Given the description of an element on the screen output the (x, y) to click on. 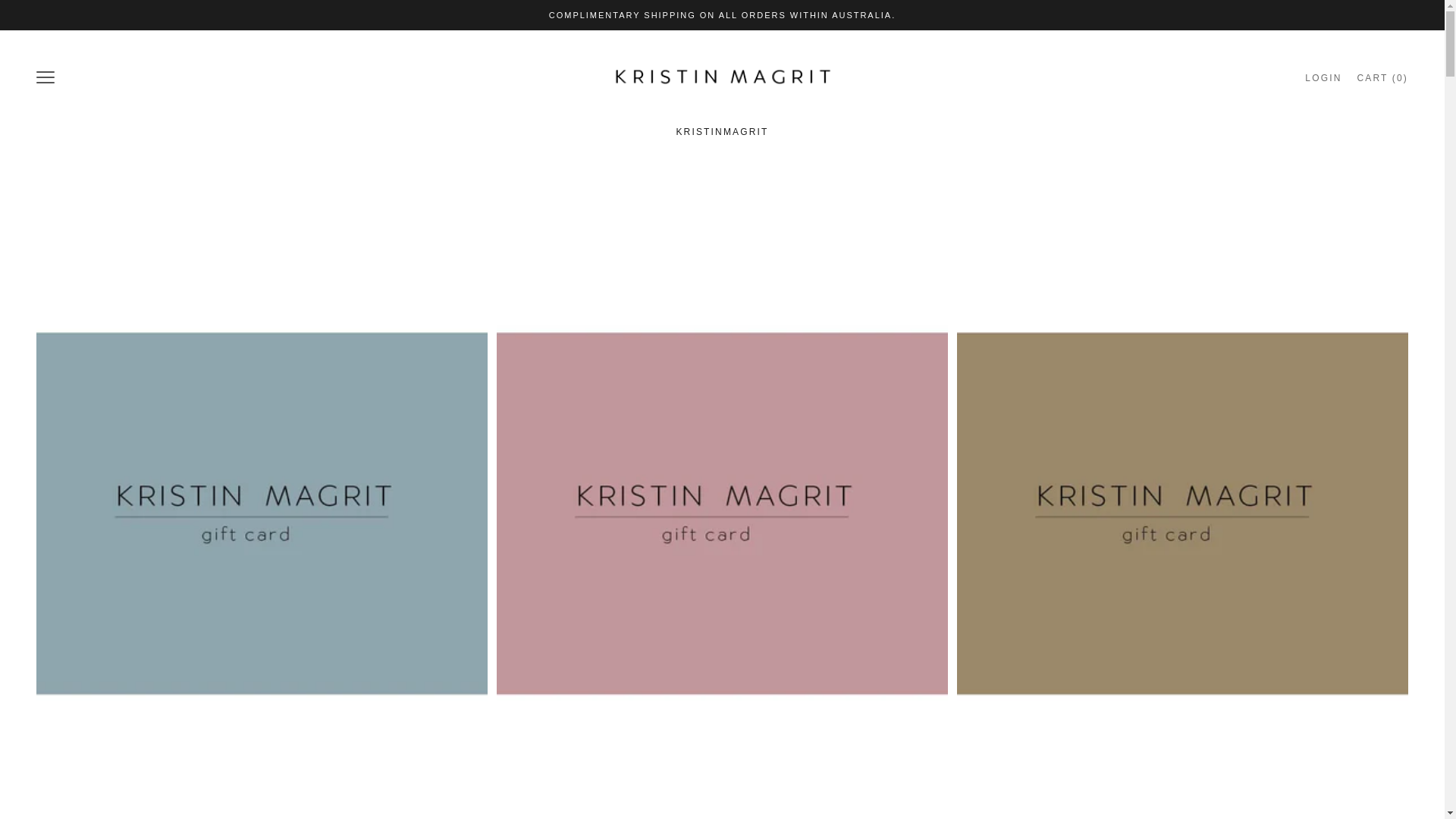
kristinmagrit (1322, 77)
Open navigation menu (721, 77)
